Given the description of an element on the screen output the (x, y) to click on. 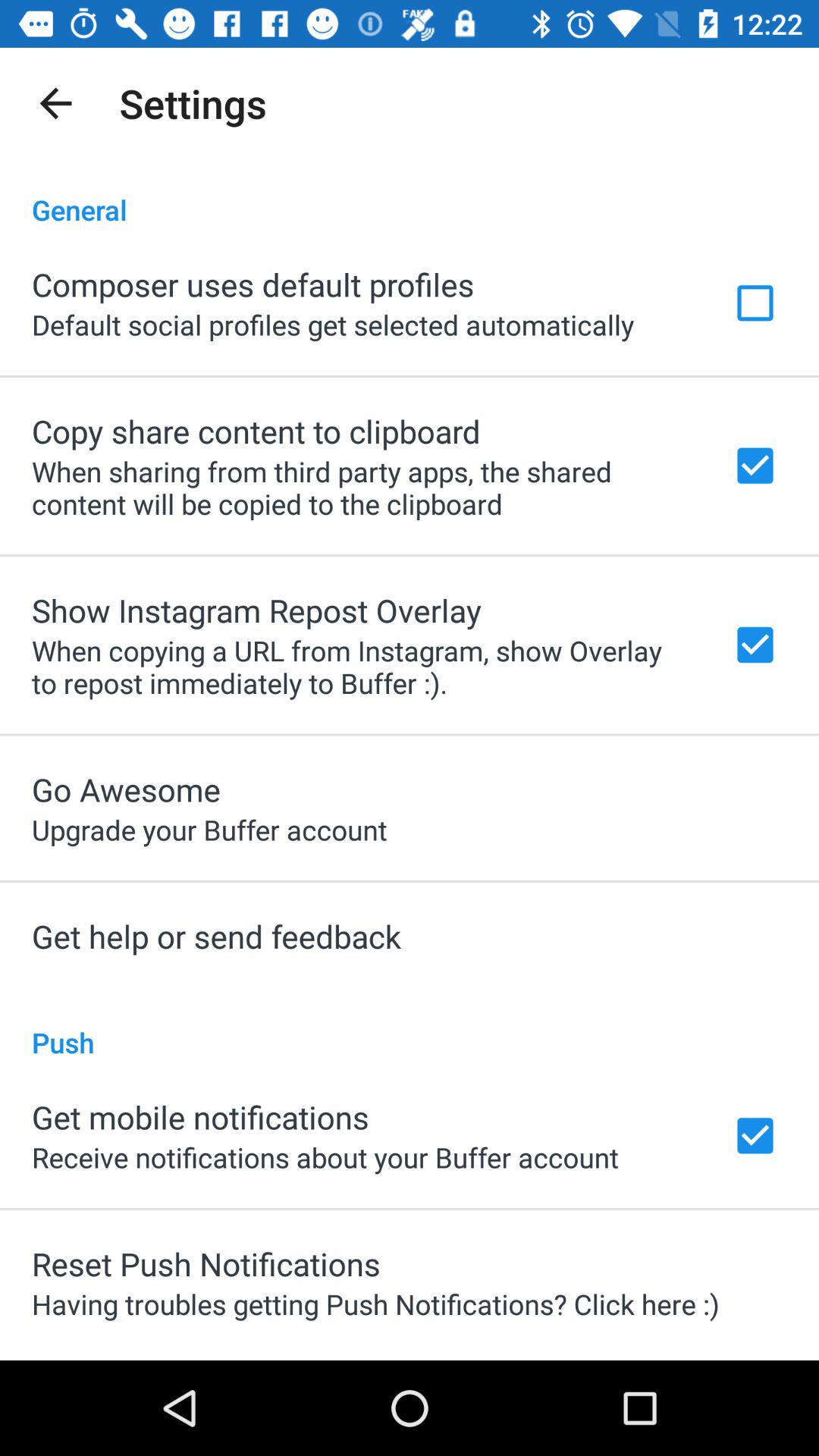
turn on the item above composer uses default icon (409, 193)
